Given the description of an element on the screen output the (x, y) to click on. 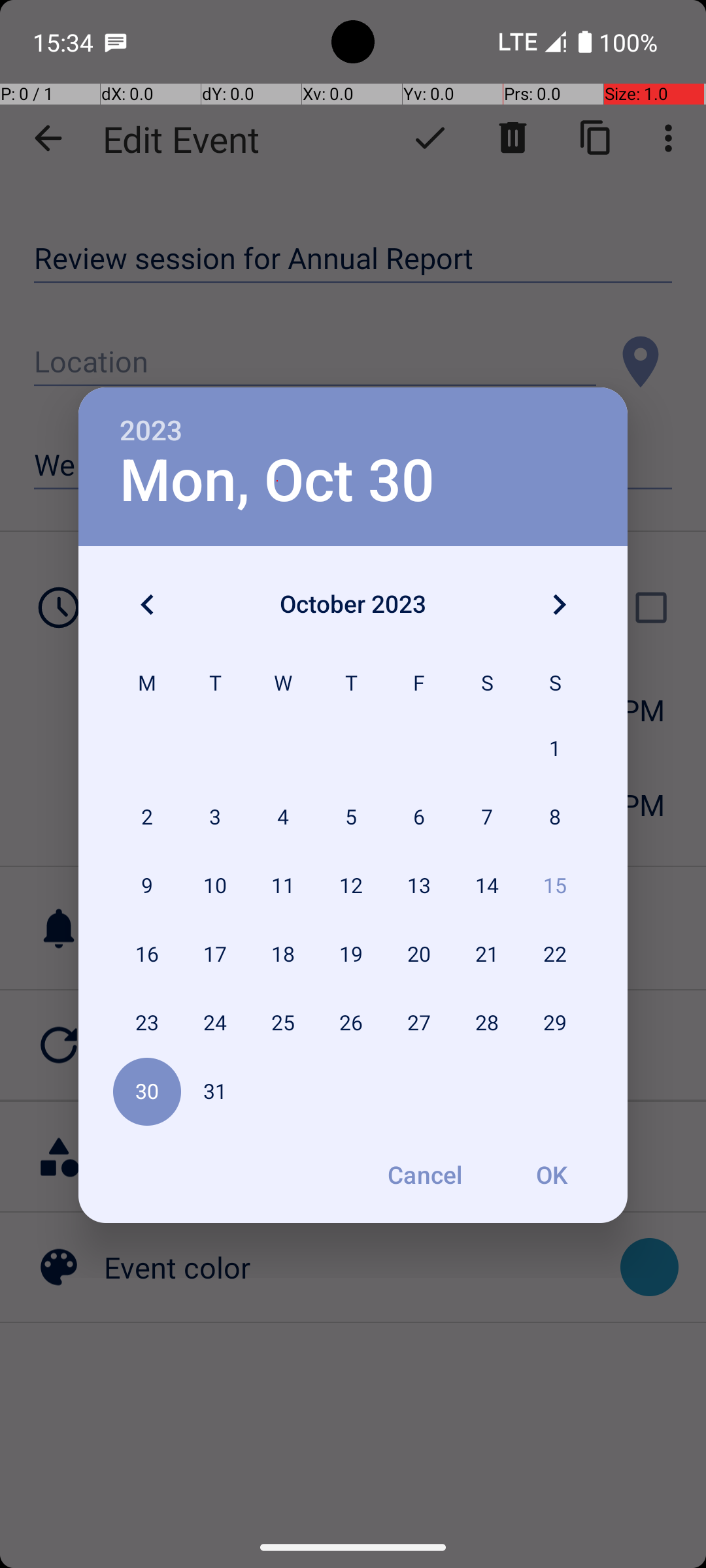
Mon, Oct 30 Element type: android.widget.TextView (276, 480)
